Given the description of an element on the screen output the (x, y) to click on. 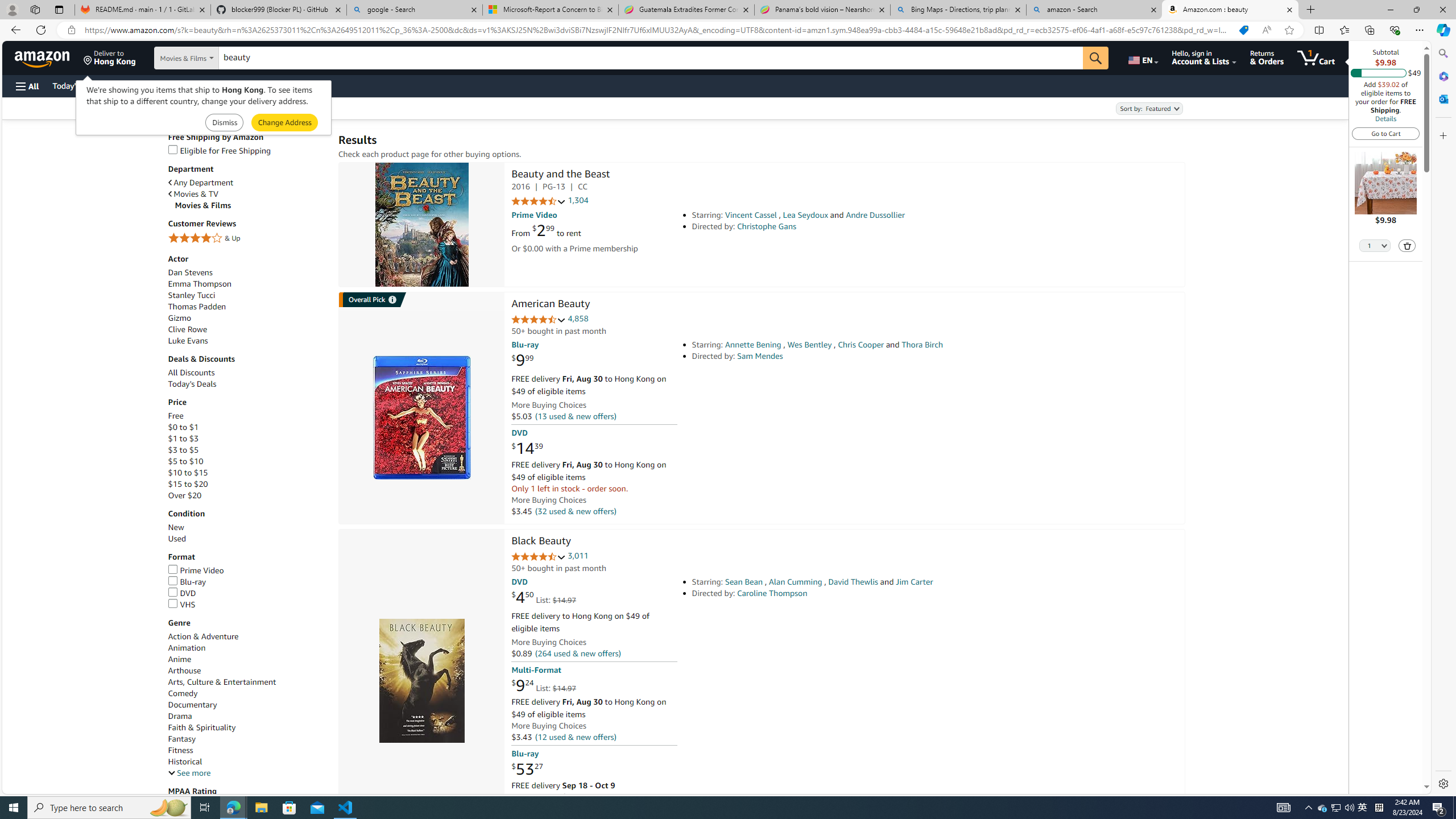
Dan Stevens (247, 272)
4,858 (577, 318)
$9.24 List: $14.97 (543, 685)
Skip to main search results (50, 788)
$3 to $5 (183, 449)
$4.50 List: $14.97 (543, 597)
Amazon (43, 57)
Fitness (180, 750)
Gizmo (247, 317)
Dan Stevens (189, 272)
Free (247, 415)
Today's Deals (191, 383)
